Given the description of an element on the screen output the (x, y) to click on. 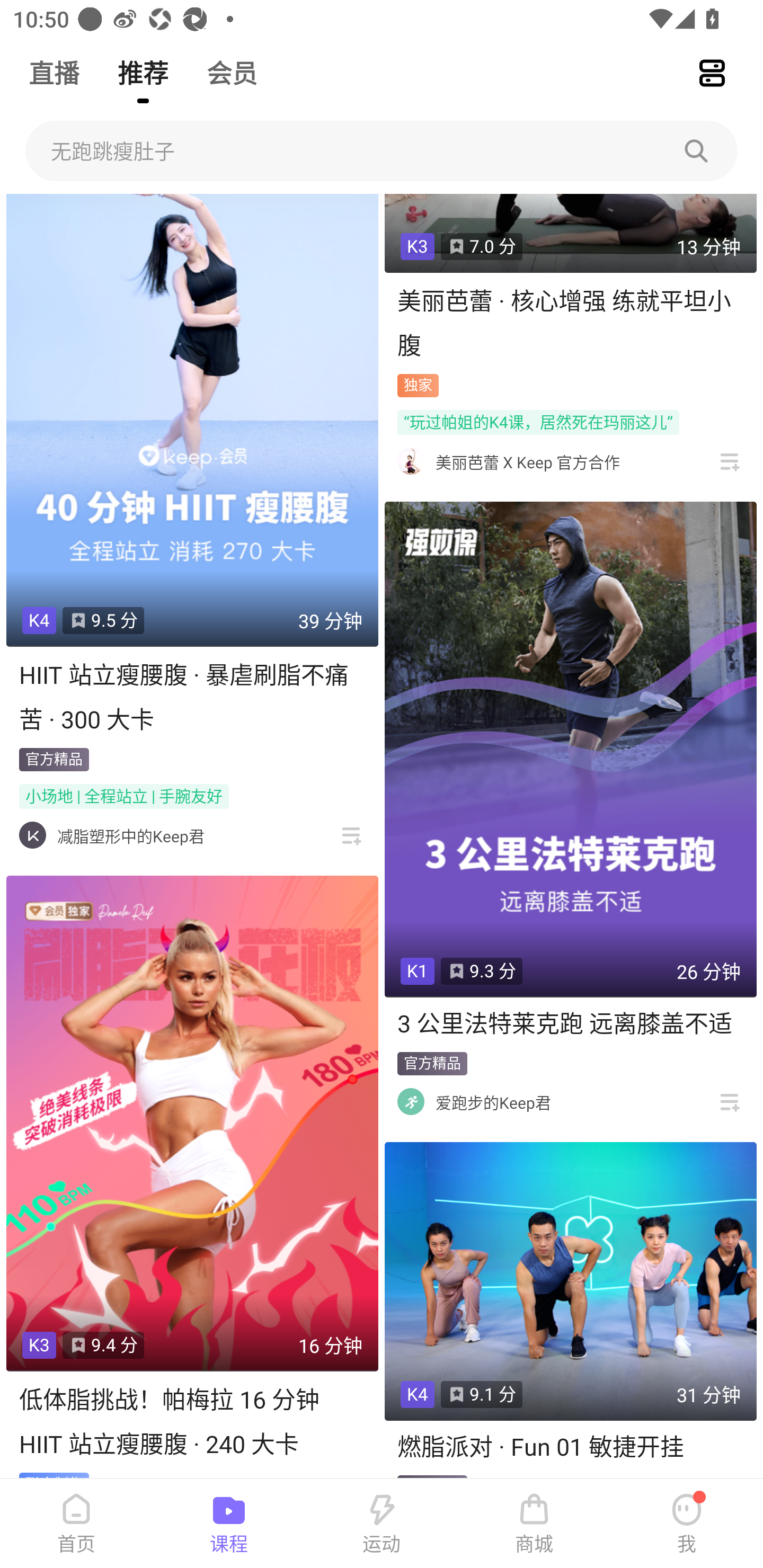
直播 (53, 64)
推荐 (142, 64)
会员 (231, 64)
无跑跳瘦肚子 (381, 150)
美丽芭蕾 X Keep 官方合作 (527, 462)
K1 9.3 分 26 分钟 3 公里法特莱克跑 远离膝盖不适 官方精品 爱跑步的Keep君 (570, 811)
减脂塑形中的Keep君 (130, 835)
爱跑步的Keep君 (492, 1102)
K4 9.1 分 31 分钟 燃脂派对 · Fun 01 敏捷开挂 (570, 1309)
首页 (76, 1523)
课程 (228, 1523)
运动 (381, 1523)
商城 (533, 1523)
我 (686, 1523)
